Given the description of an element on the screen output the (x, y) to click on. 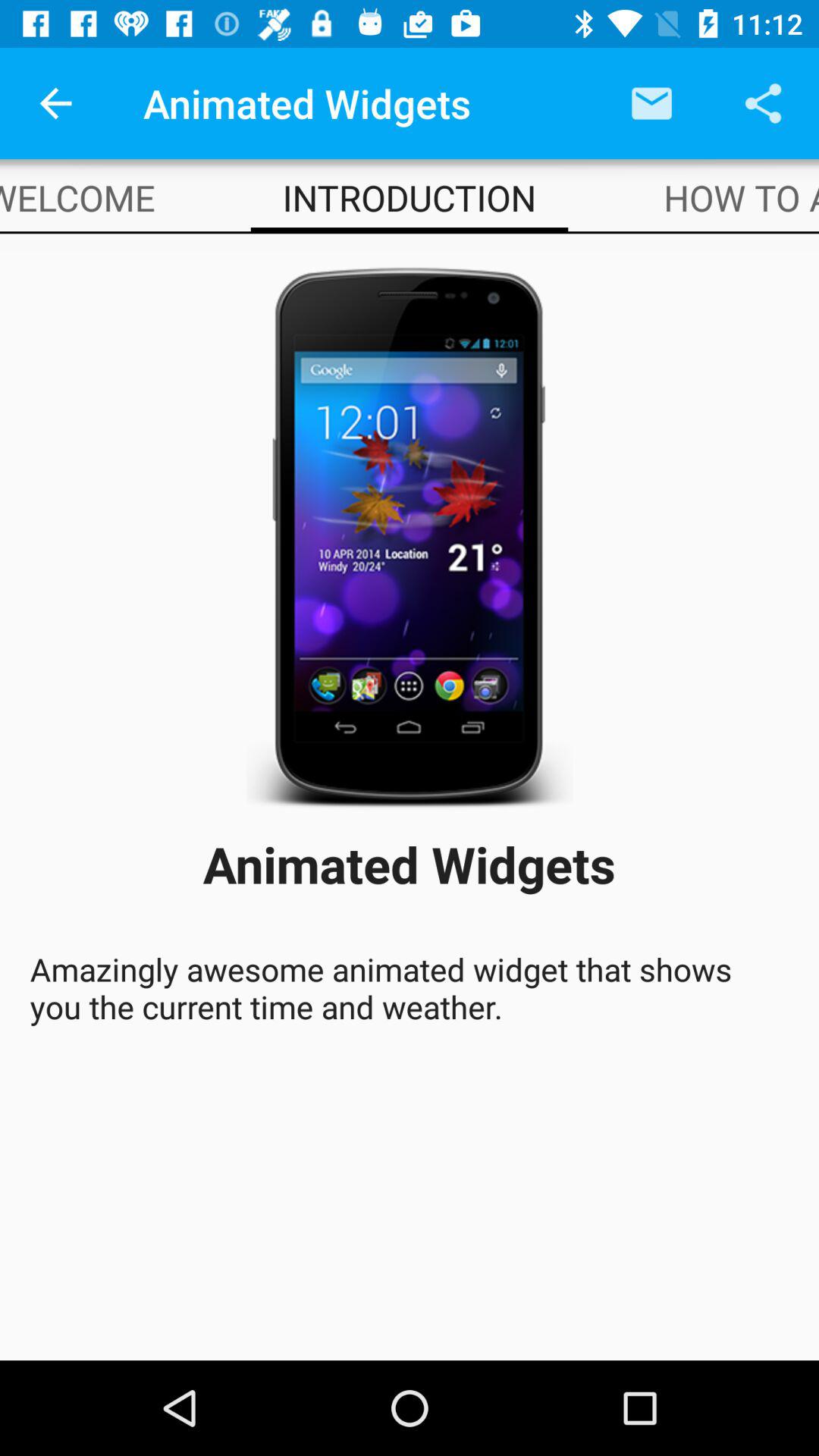
choose the icon above animated widgets icon (409, 532)
